Given the description of an element on the screen output the (x, y) to click on. 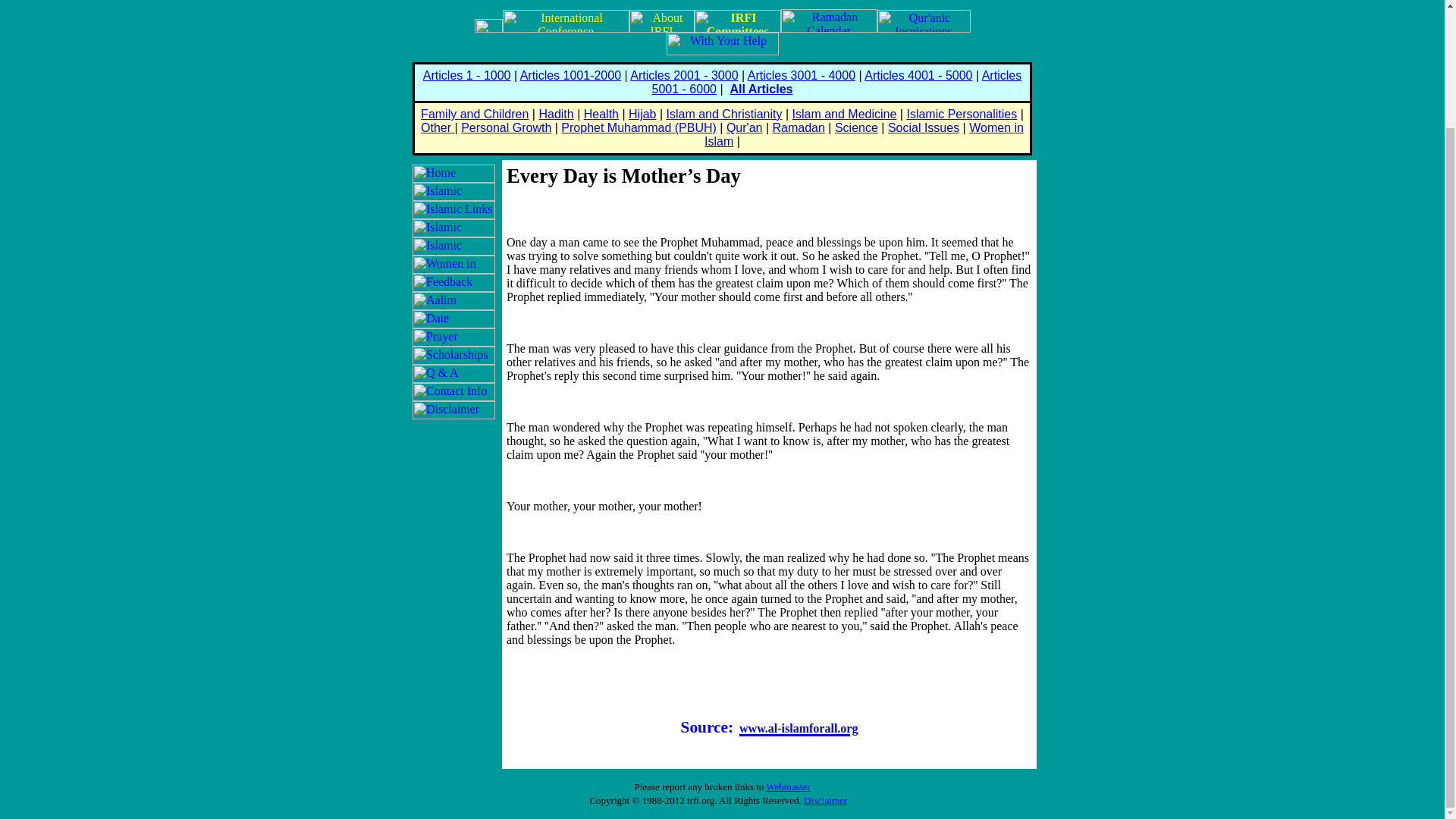
Health (600, 113)
Ramadan (797, 127)
Articles 1001-2000 (570, 74)
Islamic Personalities (960, 113)
Islam and Christianity (724, 113)
Articles 5001 - 6000 (837, 81)
Articles 2001 - 3000 (684, 74)
Islam and Medicine (844, 113)
Articles 4001 - 5000 (918, 74)
All Articles (760, 88)
Hadith (555, 113)
Articles 3001 - 4000 (802, 74)
Women in Islam (863, 134)
Science (855, 127)
Social Issues (923, 127)
